Given the description of an element on the screen output the (x, y) to click on. 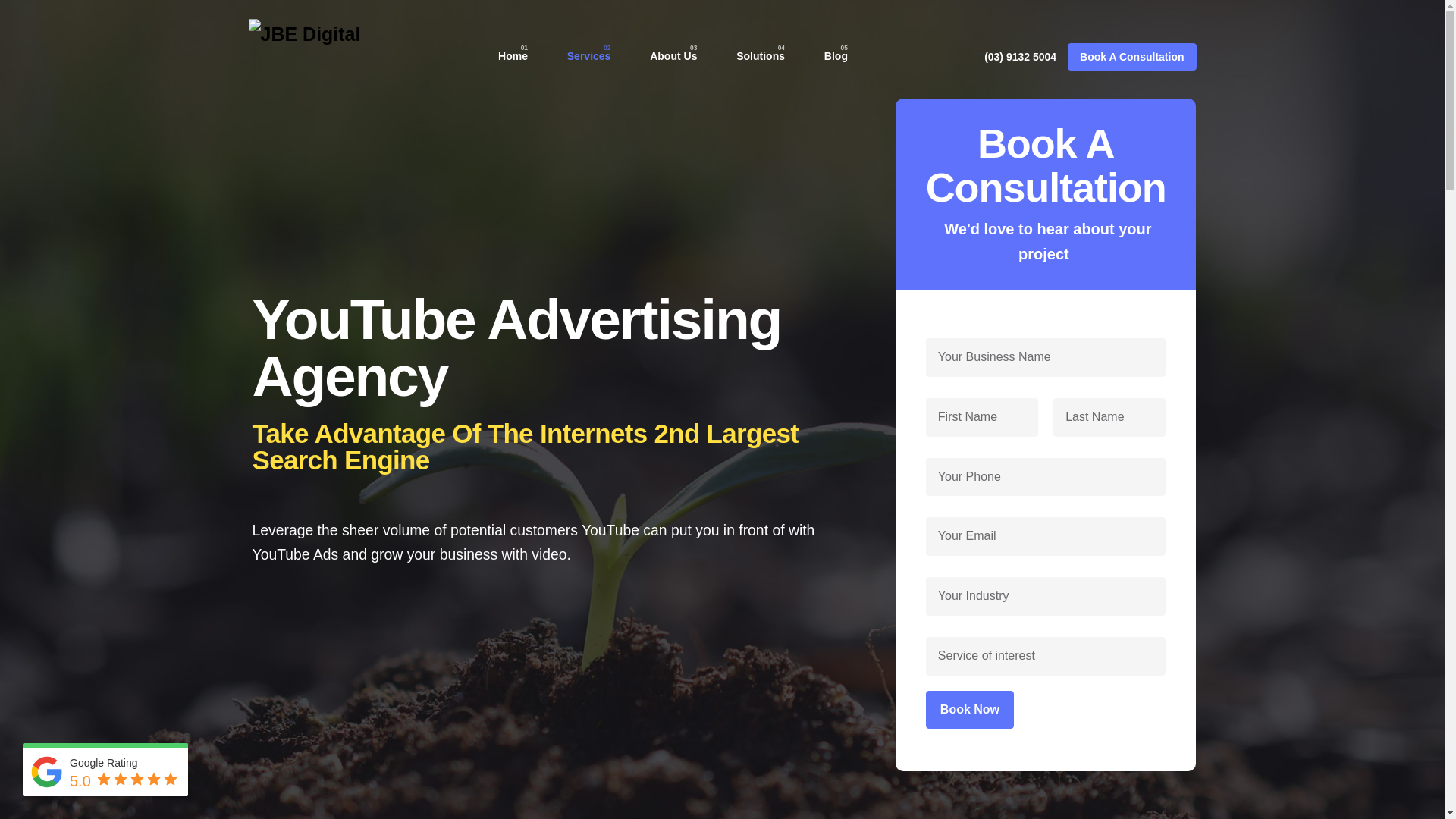
Blog Element type: text (835, 56)
(03) 9132 5004 Element type: text (1020, 56)
Book Now Element type: text (969, 709)
Home Element type: text (512, 56)
Solutions Element type: text (760, 56)
Services Element type: text (588, 56)
About Us Element type: text (673, 56)
Book A Consultation Element type: text (1131, 56)
